Given the description of an element on the screen output the (x, y) to click on. 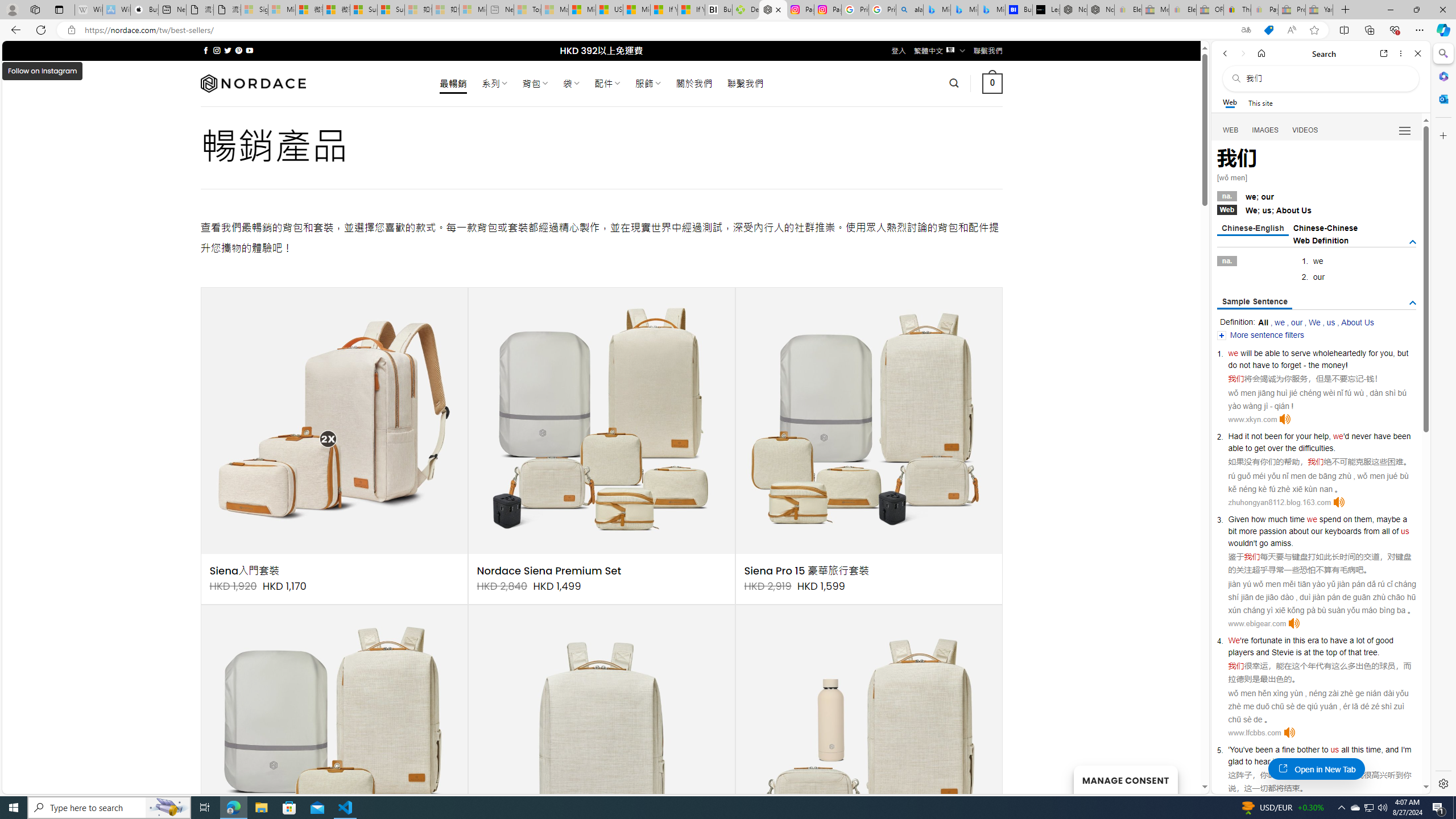
- (1364, 378)
